Given the description of an element on the screen output the (x, y) to click on. 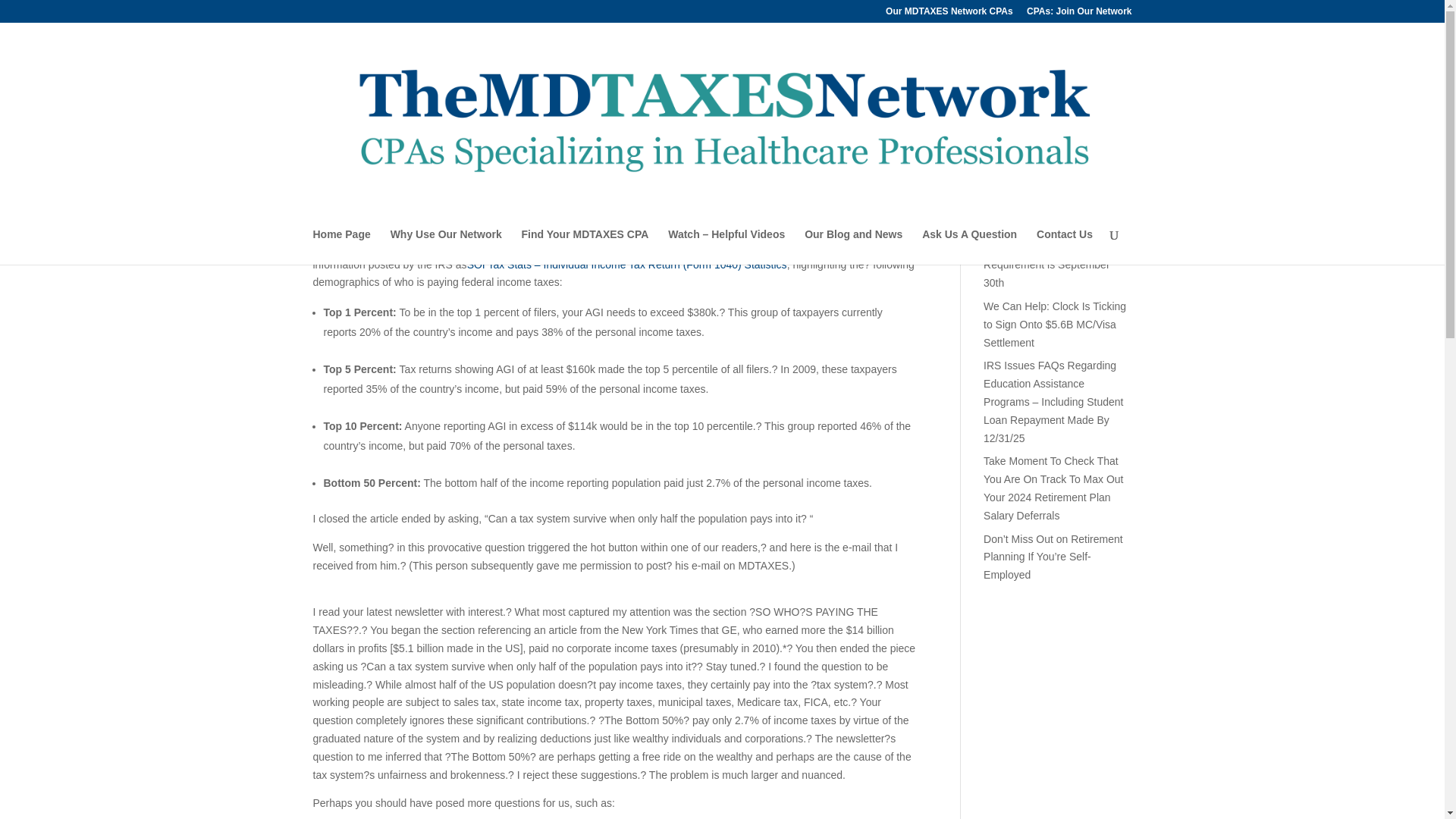
Search (1106, 142)
Taxes (529, 189)
Our Blog and News (853, 246)
The MDTAXES Network (383, 189)
Why Use Our Network (446, 246)
CPAs: Join Our Network (1078, 14)
Our MDTAXES Network CPAs (949, 14)
Ask Us A Question (968, 246)
Find Your MDTAXES CPA (585, 246)
